Given the description of an element on the screen output the (x, y) to click on. 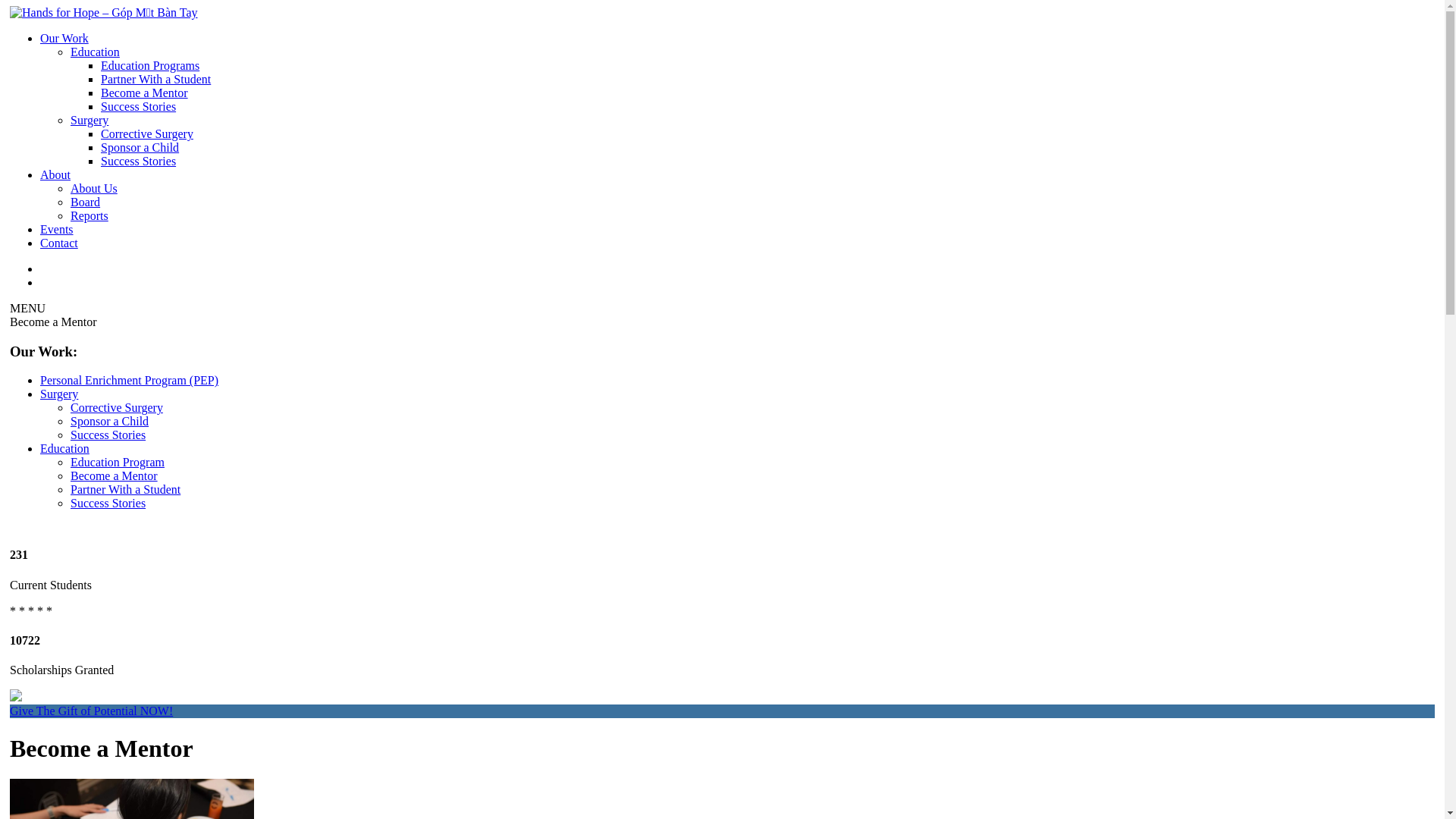
Success Stories Element type: text (107, 502)
Partner With a Student Element type: text (125, 489)
Events Element type: text (56, 228)
Education Element type: text (94, 51)
Corrective Surgery Element type: text (146, 133)
Become a Mentor Element type: text (144, 92)
Board Element type: text (85, 201)
Success Stories Element type: text (107, 434)
Personal Enrichment Program (PEP) Element type: text (129, 379)
Become a Mentor Element type: text (113, 475)
Education Element type: text (64, 448)
Education Program Element type: text (117, 461)
Corrective Surgery Element type: text (116, 407)
Sponsor a Child Element type: text (109, 420)
Surgery Element type: text (89, 119)
Partner With a Student Element type: text (155, 78)
Reports Element type: text (89, 215)
About Element type: text (55, 174)
Success Stories Element type: text (137, 106)
About Us Element type: text (93, 188)
Success Stories Element type: text (137, 160)
Surgery Element type: text (59, 393)
Give The Gift of Potential NOW! Element type: text (721, 711)
Education Programs Element type: text (149, 65)
Sponsor a Child Element type: text (139, 147)
Contact Element type: text (59, 242)
Our Work Element type: text (64, 37)
